Given the description of an element on the screen output the (x, y) to click on. 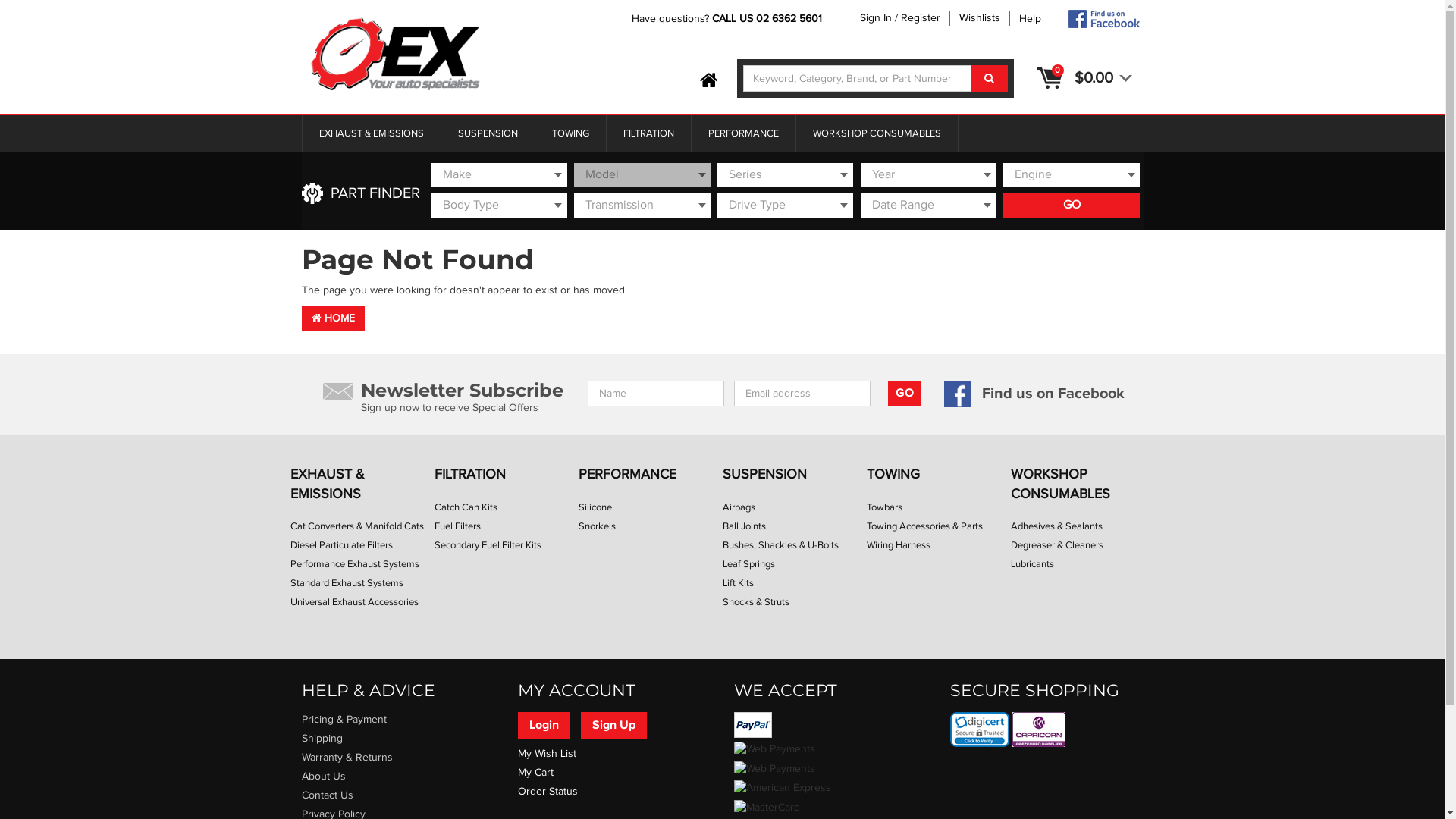
Fuel Filters Element type: text (456, 526)
My Cart Element type: text (534, 772)
Lift Kits Element type: text (737, 583)
WORKSHOP CONSUMABLES Element type: text (1082, 483)
Follow O-EX AUTO on Facebook Element type: hover (1103, 18)
About Us Element type: text (398, 776)
PERFORMANCE Element type: text (742, 133)
Search Element type: text (988, 78)
Register Element type: text (920, 18)
Snorkels Element type: text (596, 526)
HOME Element type: text (332, 318)
GO Element type: text (1071, 205)
Wiring Harness Element type: text (897, 545)
O-EX AUTO Car Spare Parts Element type: hover (395, 55)
Standard Exhaust Systems Element type: text (345, 583)
Cat Converters & Manifold Cats Element type: text (356, 526)
SUSPENSION Element type: text (486, 133)
Performance Exhaust Systems Element type: text (353, 564)
O-EX AUTO Car Spare Parts Online Element type: hover (708, 80)
Bushes, Shackles & U-Bolts Element type: text (779, 545)
CALL US 02 6362 5 Element type: text (757, 18)
Lubricants Element type: text (1031, 564)
Ball Joints Element type: text (743, 526)
Leaf Springs Element type: text (747, 564)
TOWING Element type: text (938, 474)
My Wish List Element type: text (546, 753)
Towing Accessories & Parts Element type: text (924, 526)
Wishlists Element type: text (978, 18)
Degreaser & Cleaners Element type: text (1056, 545)
EXHAUST & EMISSIONS Element type: text (361, 483)
Order Status Element type: text (547, 791)
Login Element type: text (543, 725)
WORKSHOP CONSUMABLES Element type: text (875, 133)
Sign In Element type: text (875, 18)
$0.00
0 Element type: text (1102, 78)
EXHAUST & EMISSIONS Element type: text (371, 133)
PERFORMANCE Element type: text (649, 474)
Pricing & Payment Element type: text (398, 719)
Diesel Particulate Filters Element type: text (340, 545)
Find us on Facebook Element type: text (1033, 393)
Silicone Element type: text (594, 507)
Towbars Element type: text (883, 507)
Shipping Element type: text (398, 738)
Secondary Fuel Filter Kits Element type: text (486, 545)
FILTRATION Element type: text (647, 133)
Sign Up Element type: text (613, 725)
O-EX AUTO Spare Parts Element type: hover (395, 55)
Airbags Element type: text (737, 507)
GO Element type: text (903, 393)
FILTRATION Element type: text (505, 474)
Catch Can Kits Element type: text (464, 507)
Universal Exhaust Accessories Element type: text (353, 602)
Contact Us Element type: text (398, 795)
Help Element type: text (1036, 18)
SUSPENSION Element type: text (793, 474)
Adhesives & Sealants Element type: text (1055, 526)
TOWING Element type: text (569, 133)
Shocks & Struts Element type: text (754, 602)
Warranty & Returns Element type: text (398, 757)
